Given the description of an element on the screen output the (x, y) to click on. 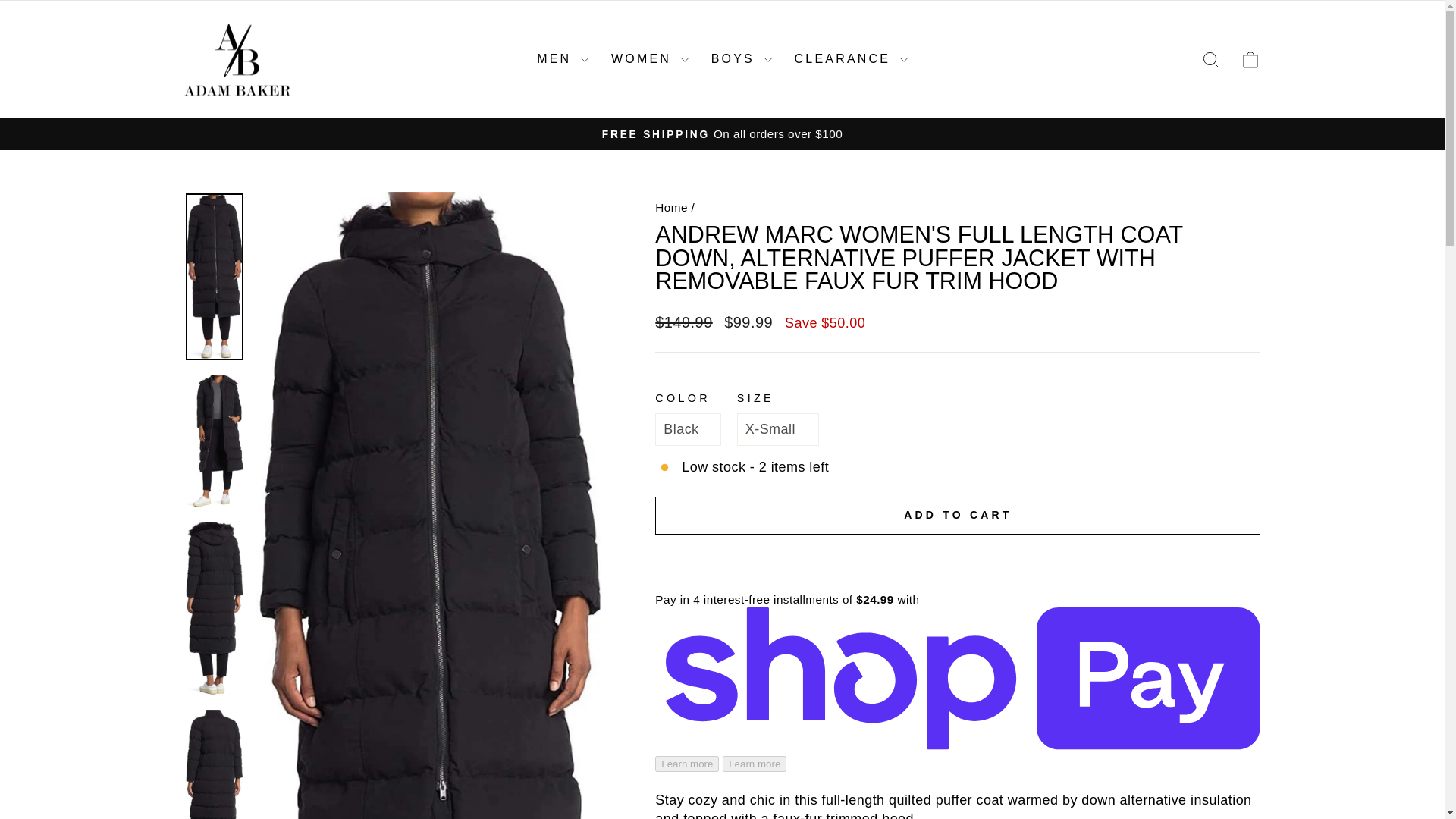
ICON-BAG-MINIMAL (1249, 59)
ICON-SEARCH (1210, 59)
Back to the frontpage (671, 206)
